Given the description of an element on the screen output the (x, y) to click on. 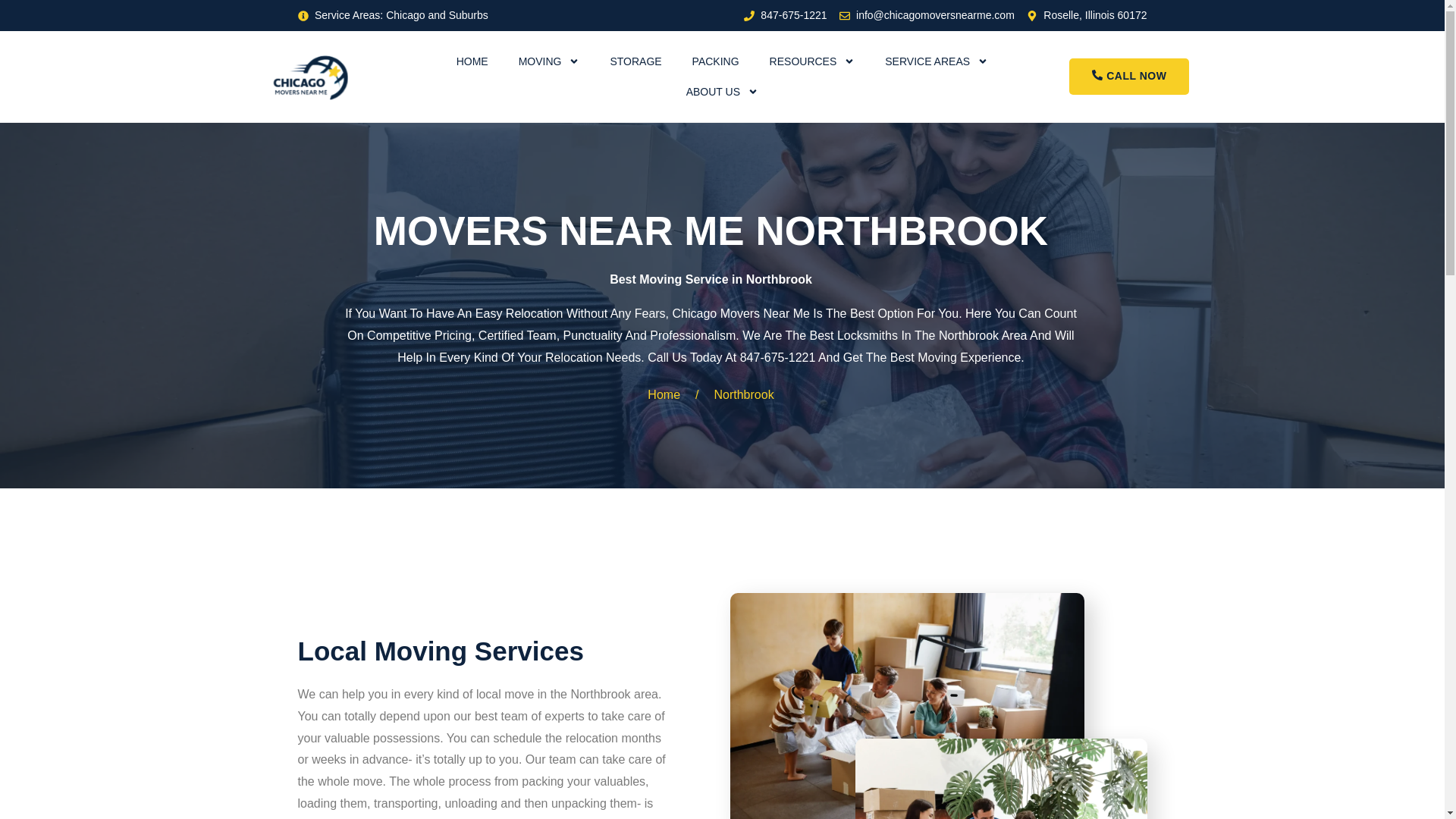
ABOUT US (722, 91)
RESOURCES (812, 60)
PACKING (715, 60)
847-675-1221 (785, 15)
MOVING (549, 60)
HOME (472, 60)
STORAGE (635, 60)
SERVICE AREAS (936, 60)
